Given the description of an element on the screen output the (x, y) to click on. 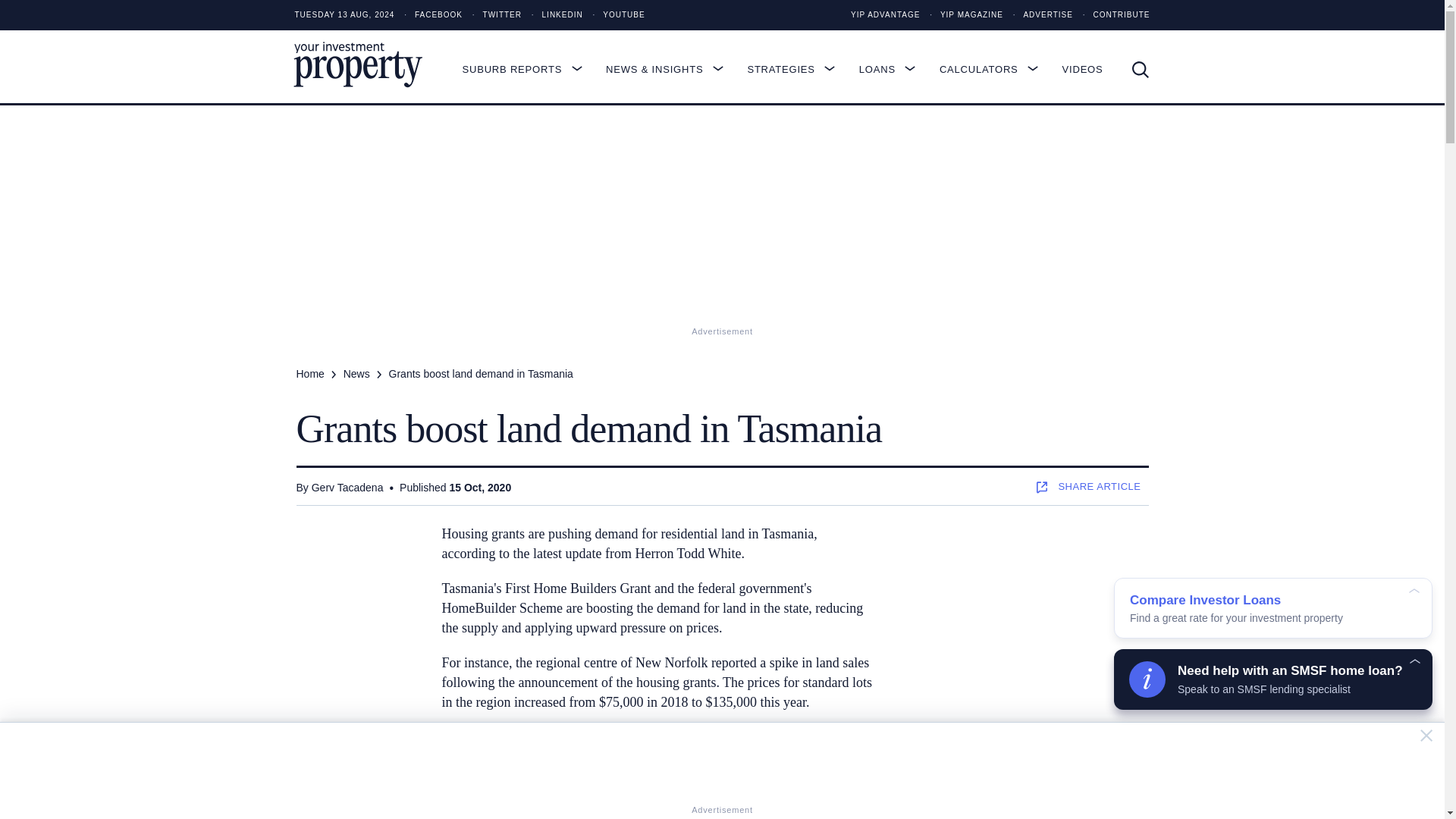
FACEBOOK (429, 15)
TWITTER (492, 15)
YIP MAGAZINE (962, 15)
YIP ADVANTAGE (885, 15)
ADVERTISE (1039, 15)
3rd party ad content (1028, 618)
STRATEGIES (797, 69)
LINKEDIN (553, 15)
3rd party ad content (722, 763)
CONTRIBUTE (1112, 15)
